Given the description of an element on the screen output the (x, y) to click on. 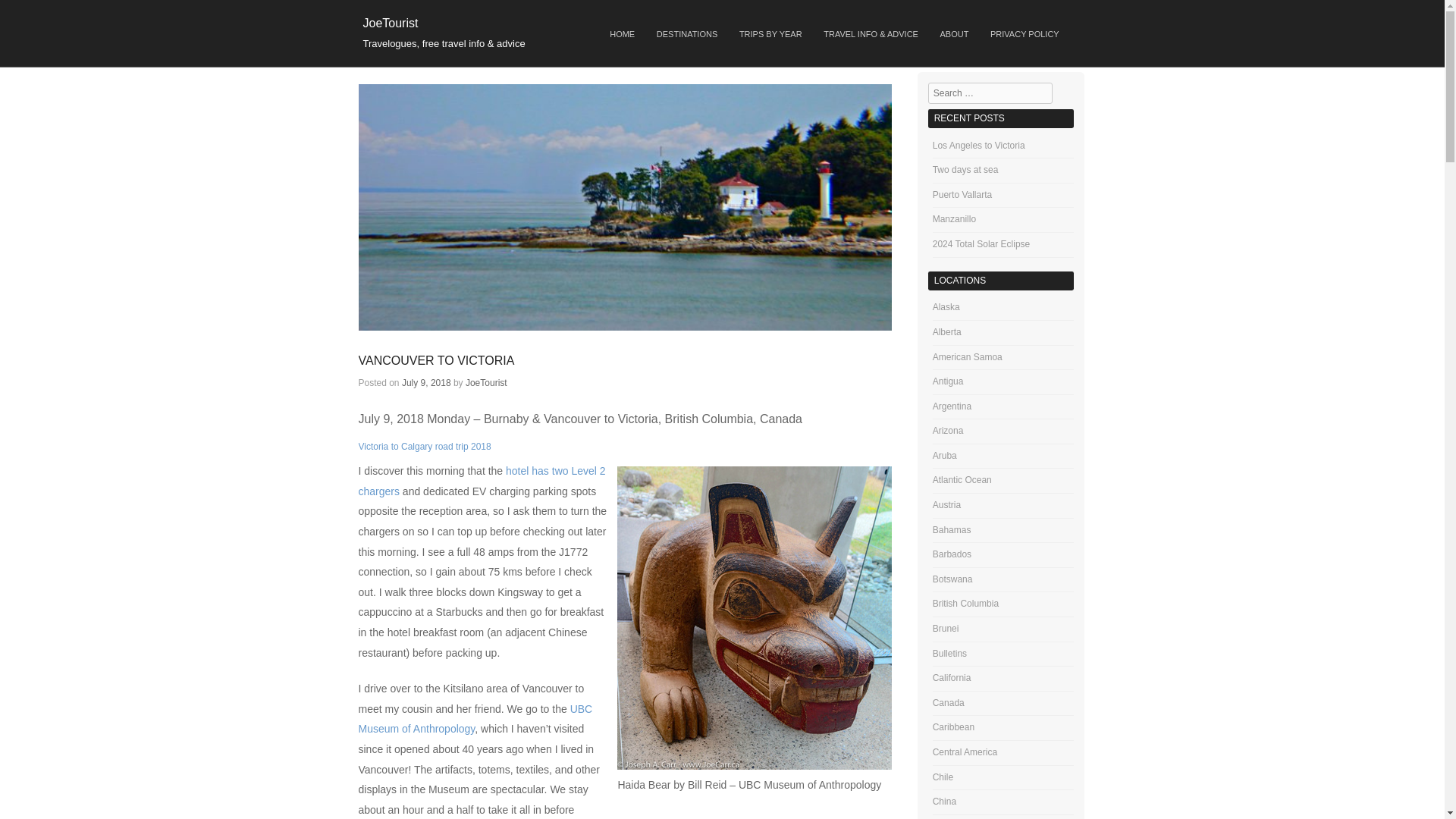
SKIP TO CONTENT (620, 28)
JoeTourist (389, 22)
JoeTourist (389, 22)
DESTINATIONS (686, 34)
View all posts by JoeTourist (485, 382)
Skip to content (620, 28)
10:17 PM (426, 382)
HOME (622, 34)
